Given the description of an element on the screen output the (x, y) to click on. 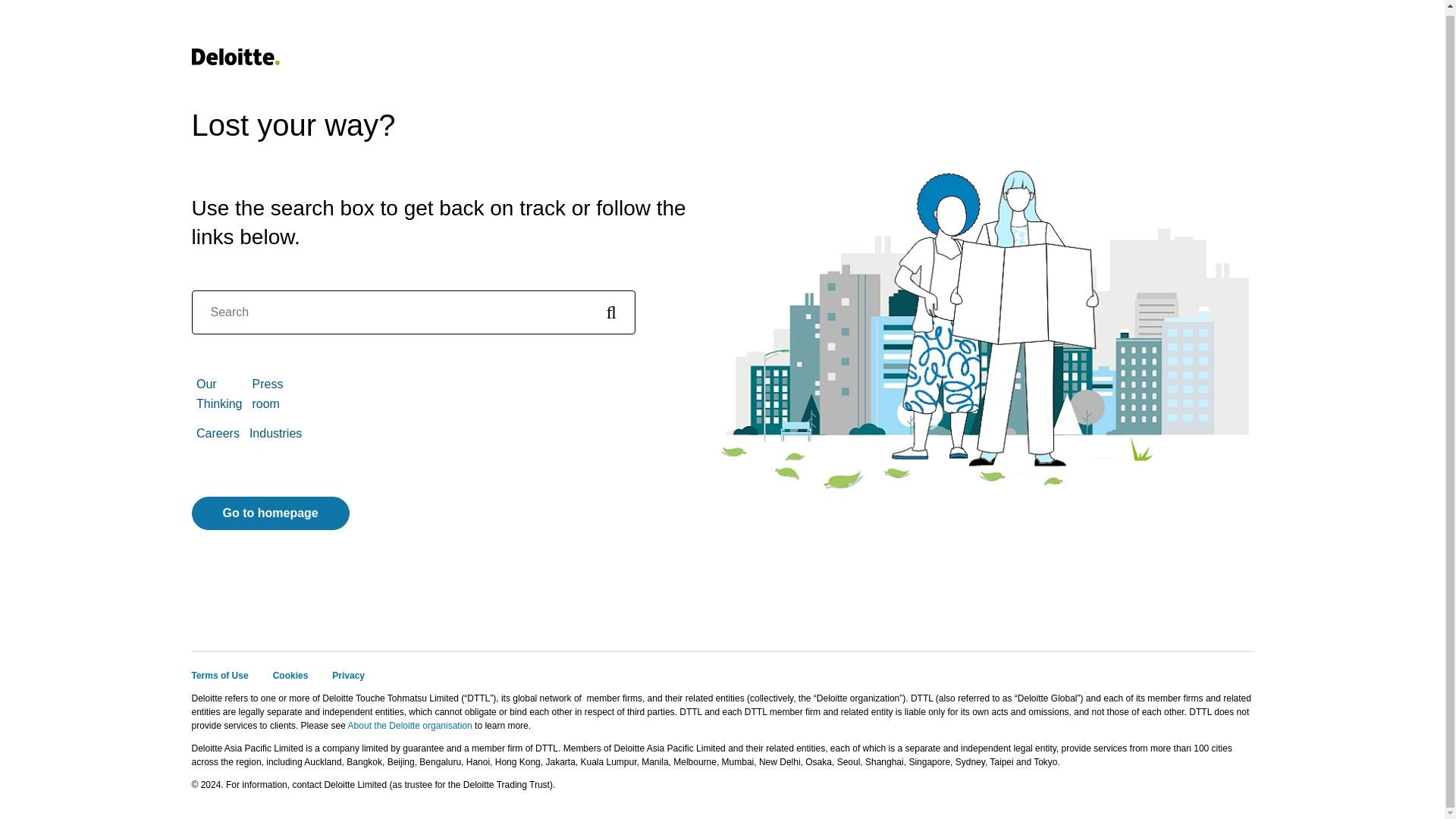
About the Deloitte organisation (409, 725)
Terms of Use (218, 675)
Press room (266, 393)
Industries (274, 432)
Our Thinking (218, 393)
Go to homepage (270, 513)
Industries (274, 432)
Cookies (290, 675)
Careers (218, 432)
Press room (266, 393)
